Given the description of an element on the screen output the (x, y) to click on. 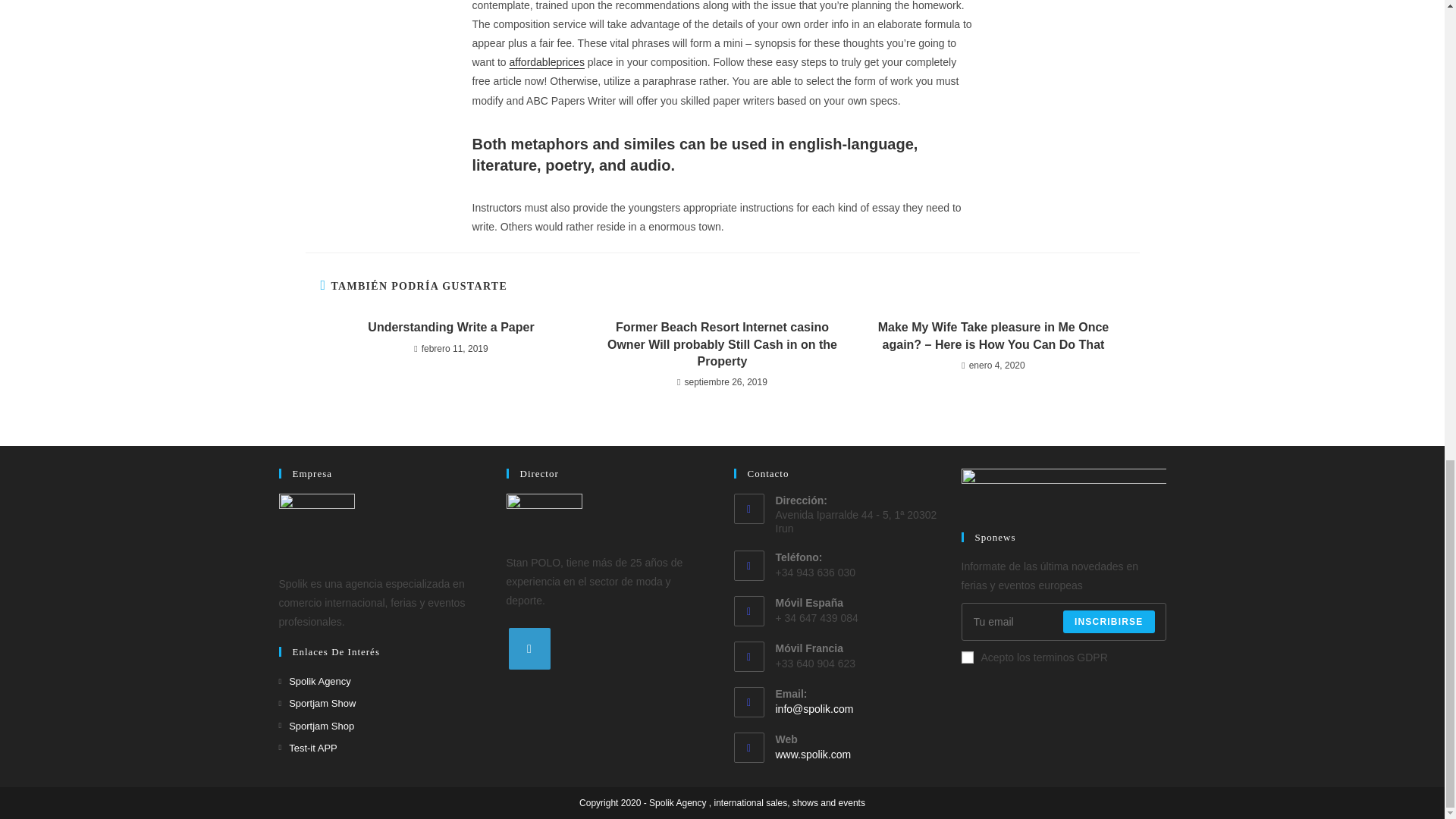
1 (967, 657)
Sportjam Shop (317, 725)
Test-it APP (308, 747)
Sportjam Show (317, 702)
affordableprices (547, 61)
www.spolik.com (812, 754)
Understanding Write a Paper (450, 327)
Spolik Agency (314, 681)
